Given the description of an element on the screen output the (x, y) to click on. 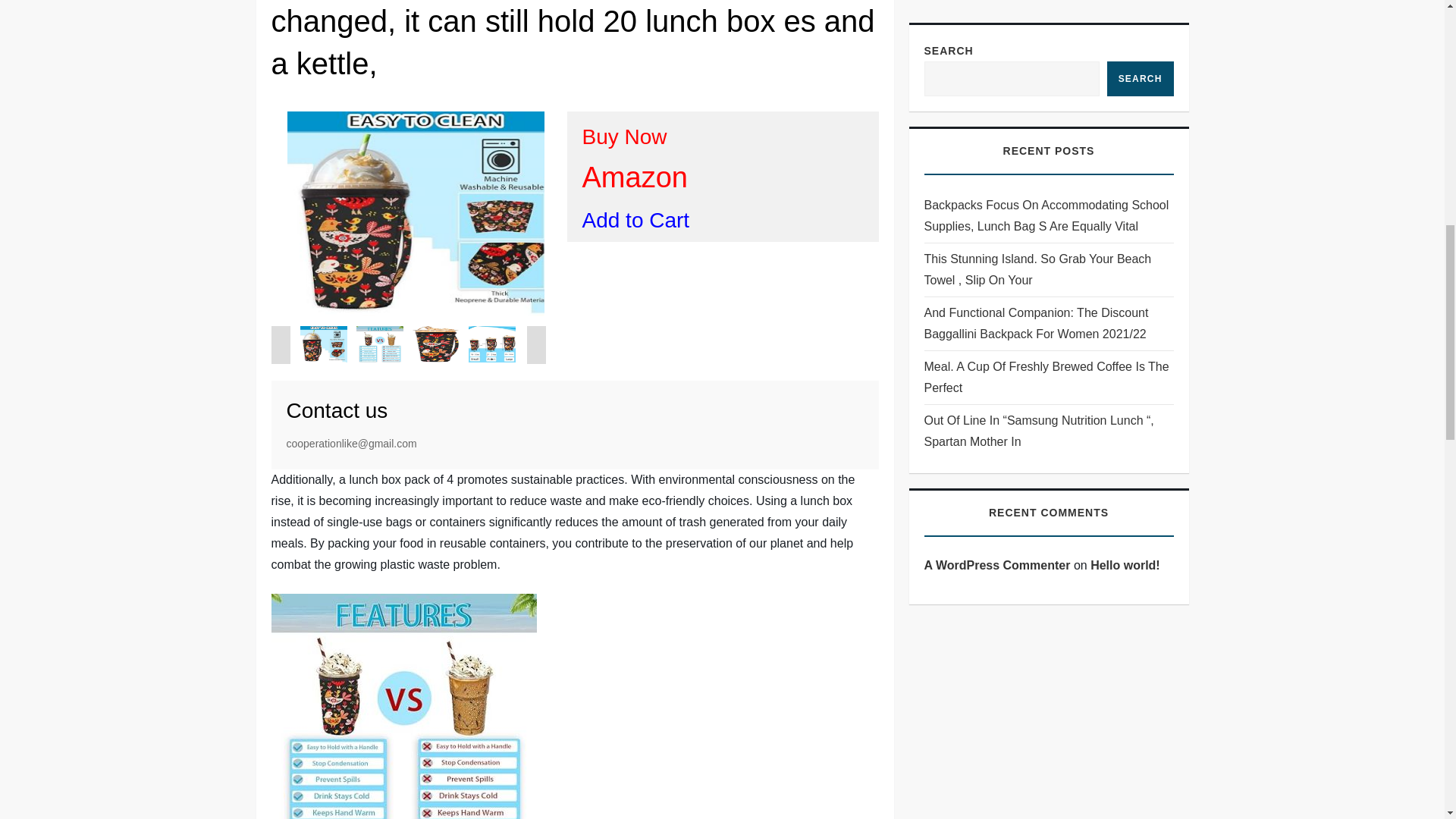
Amazon (634, 177)
Buy Now (624, 136)
Add to Cart (636, 219)
